Given the description of an element on the screen output the (x, y) to click on. 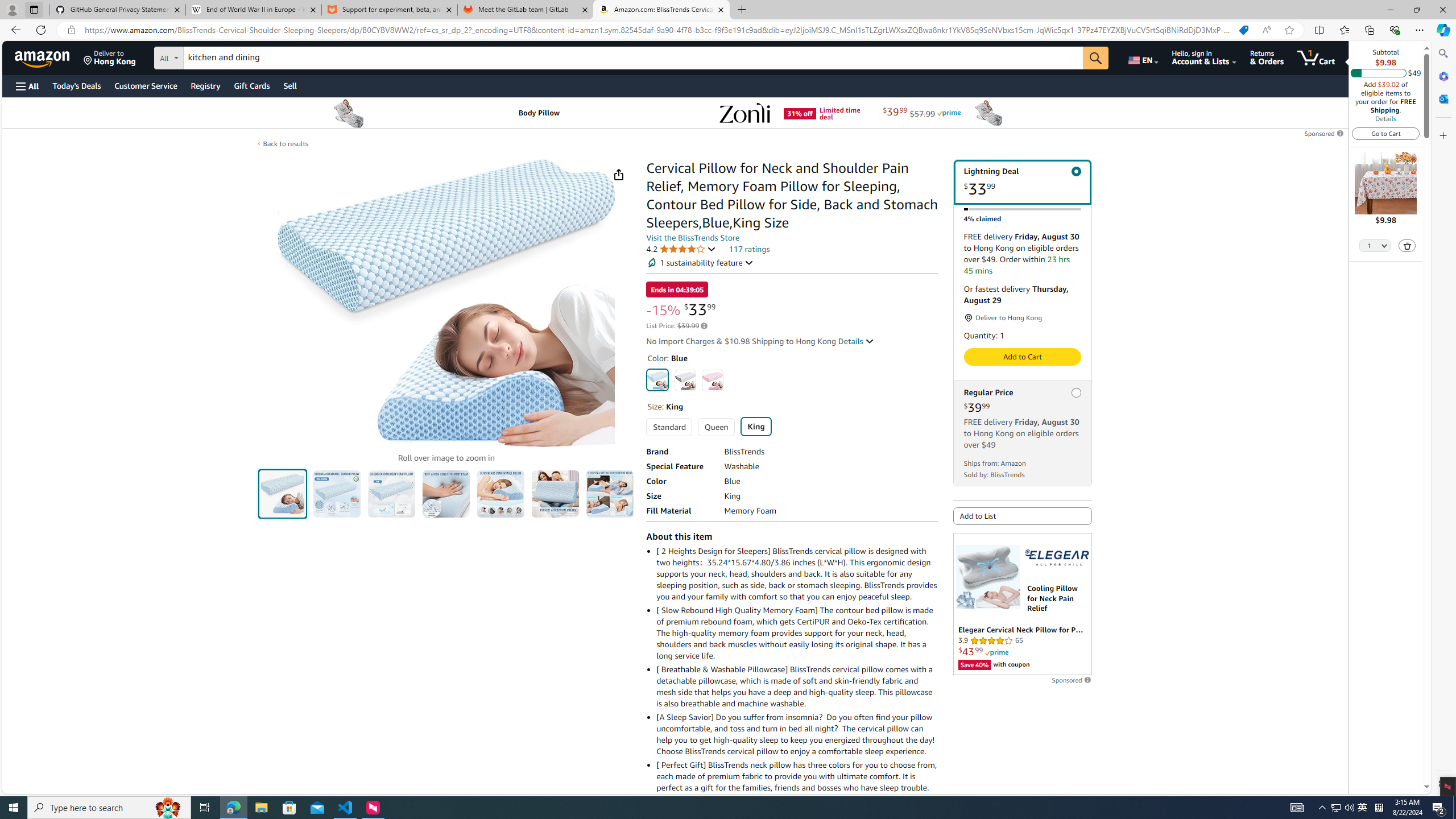
Details  (855, 341)
You have the best price! (1243, 29)
Pink (711, 380)
Lightning Deal $33.99 (1022, 181)
Grey (684, 380)
Sell (290, 85)
Skip to main content (48, 56)
